Given the description of an element on the screen output the (x, y) to click on. 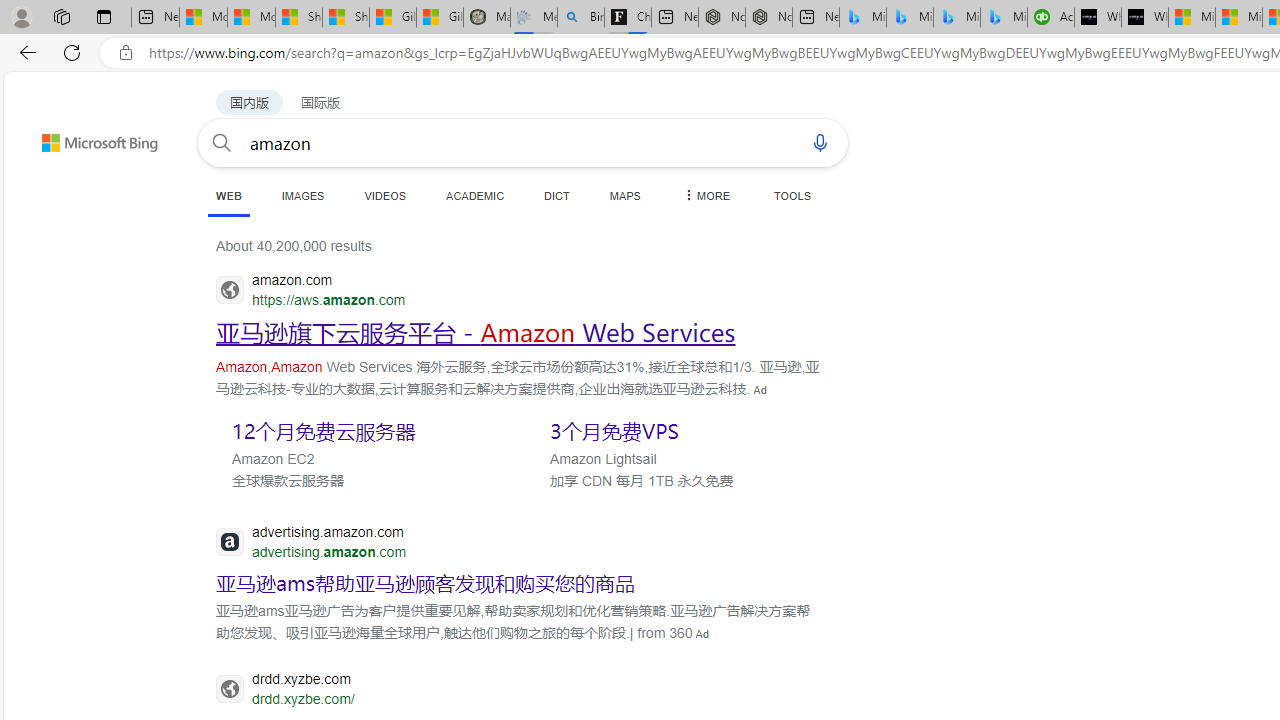
ACADEMIC (475, 195)
Manatee Mortality Statistics | FWC (486, 17)
Back to Bing search (87, 138)
Bing Real Estate - Home sales and rental listings (581, 17)
MAPS (624, 195)
Nordace - #1 Japanese Best-Seller - Siena Smart Backpack (769, 17)
MAPS (624, 195)
DICT (557, 195)
